Given the description of an element on the screen output the (x, y) to click on. 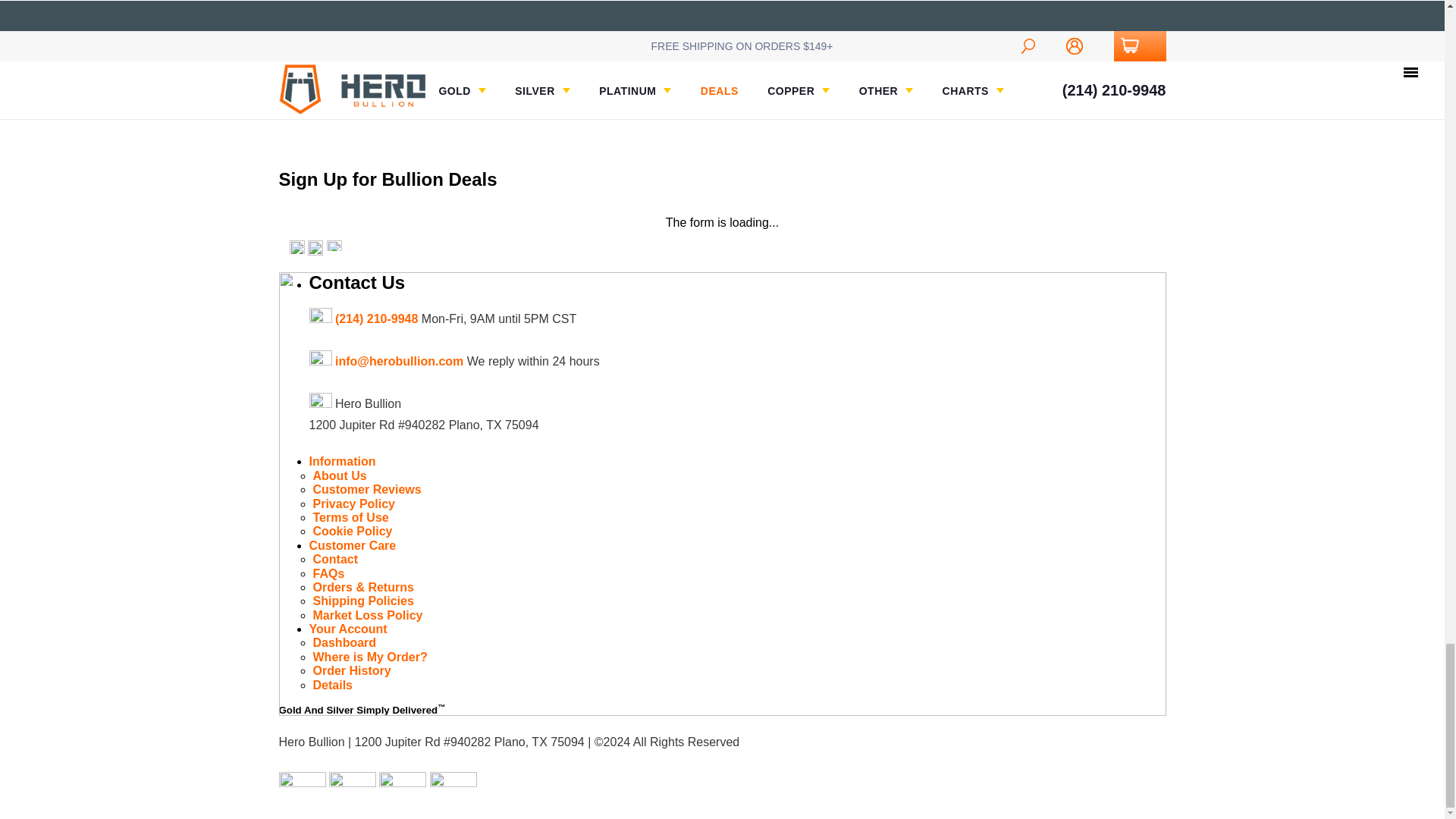
1 (870, 40)
1 (509, 26)
1 (689, 40)
1 (1051, 40)
